Given the description of an element on the screen output the (x, y) to click on. 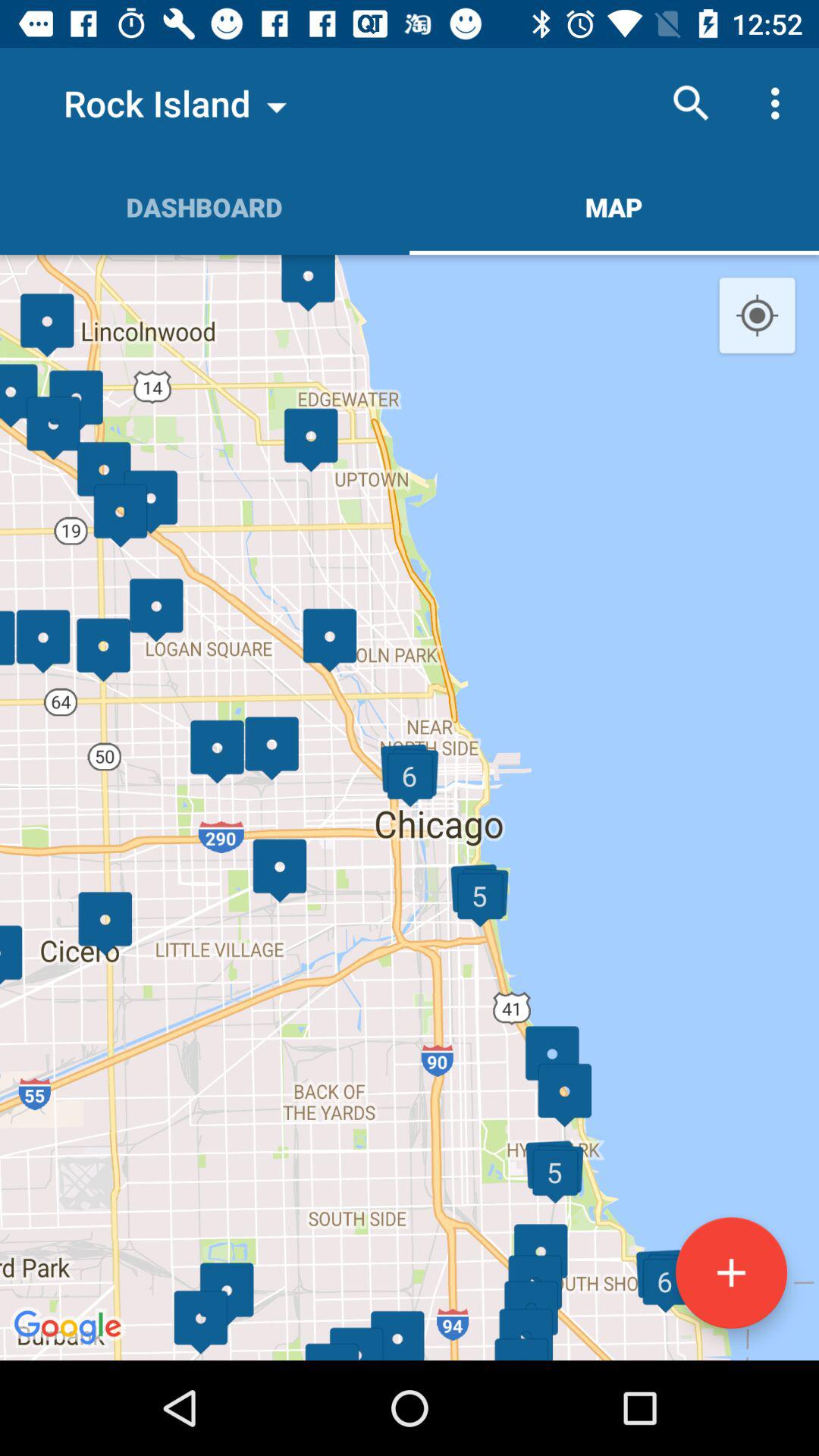
launch the icon next to rock island item (691, 103)
